Given the description of an element on the screen output the (x, y) to click on. 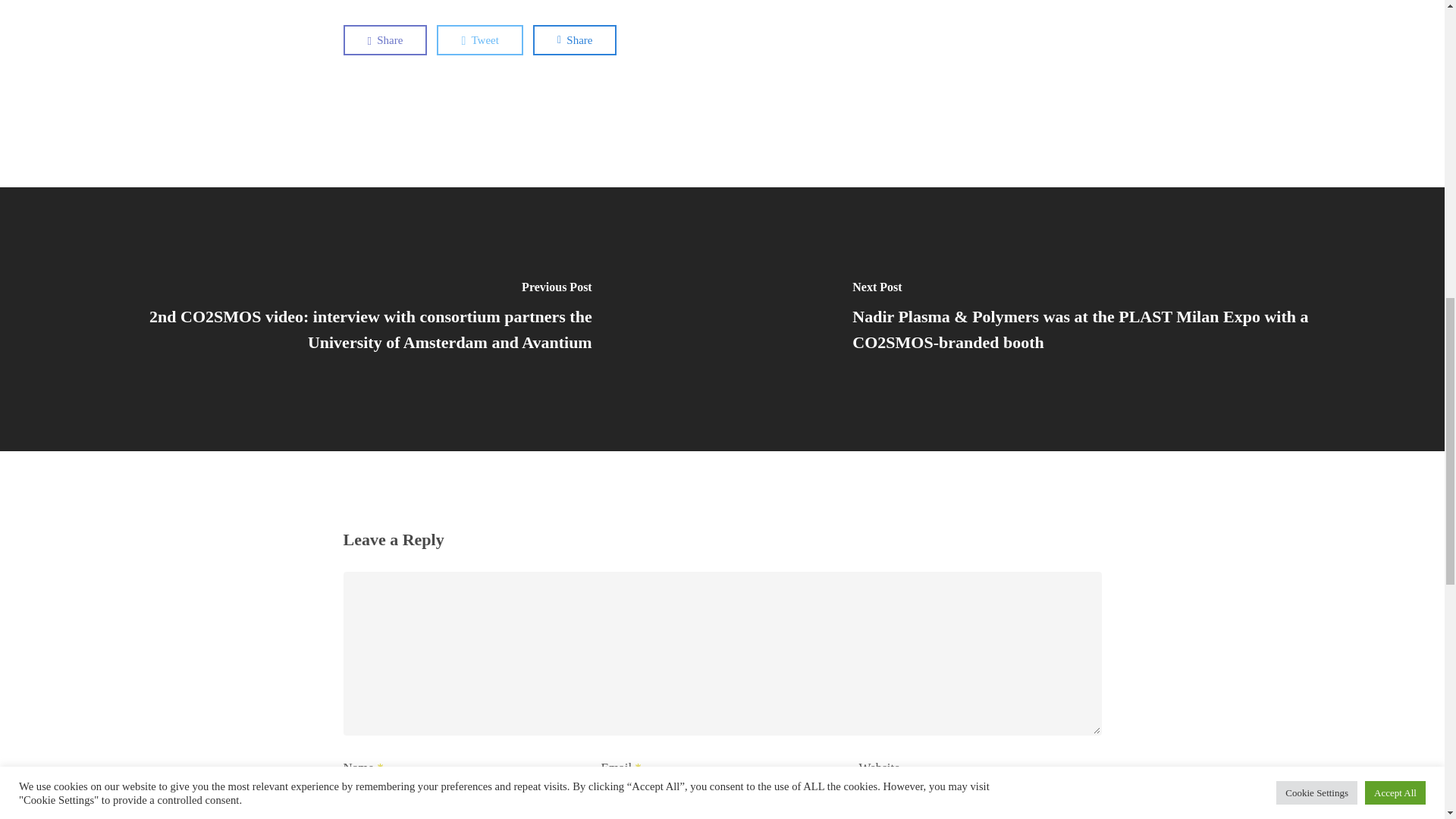
Share this (384, 40)
Tweet (479, 40)
Share (384, 40)
Tweet this (479, 40)
Share (574, 40)
Share this (574, 40)
